Given the description of an element on the screen output the (x, y) to click on. 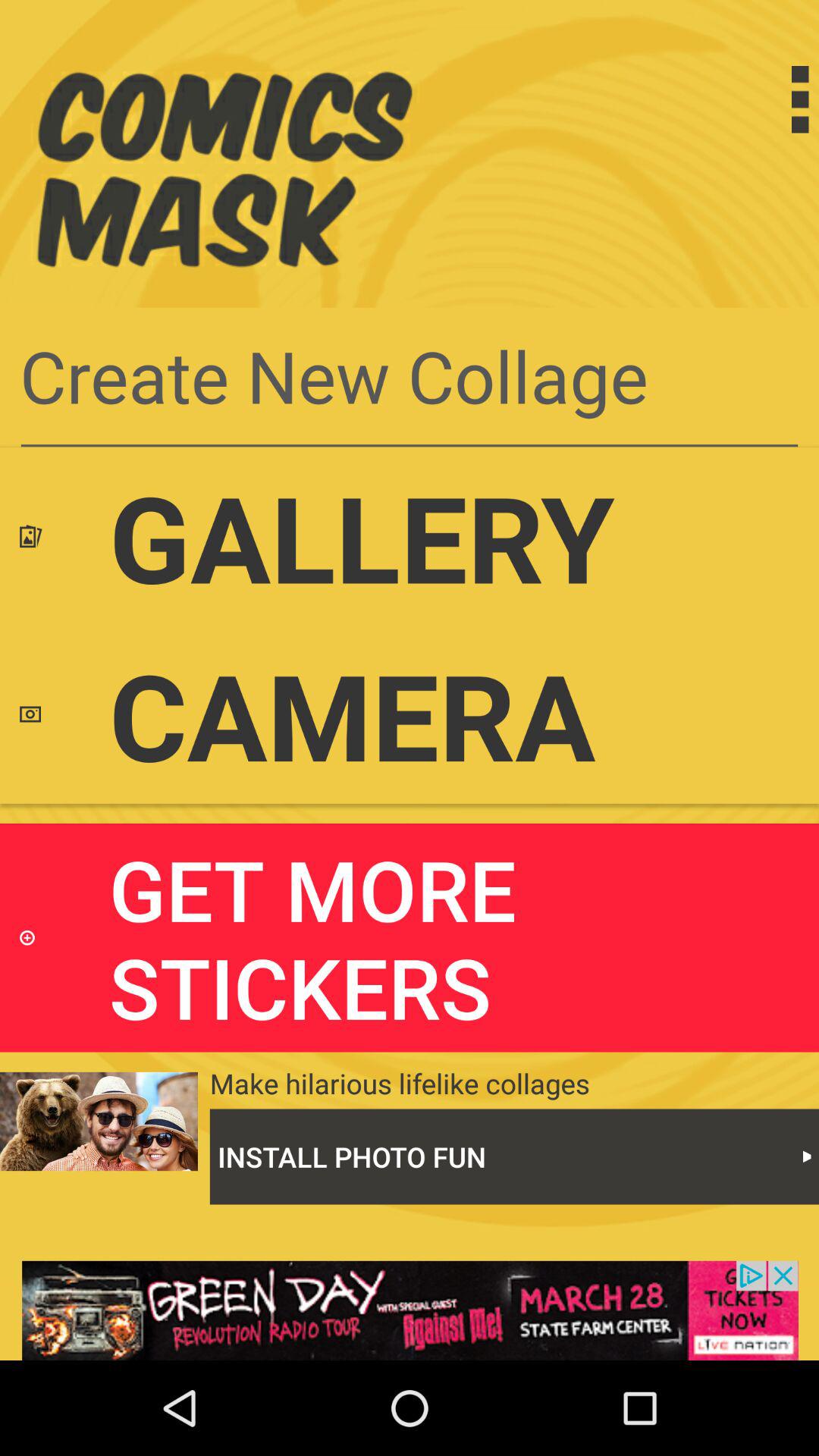
click for advertisement (409, 1310)
